Given the description of an element on the screen output the (x, y) to click on. 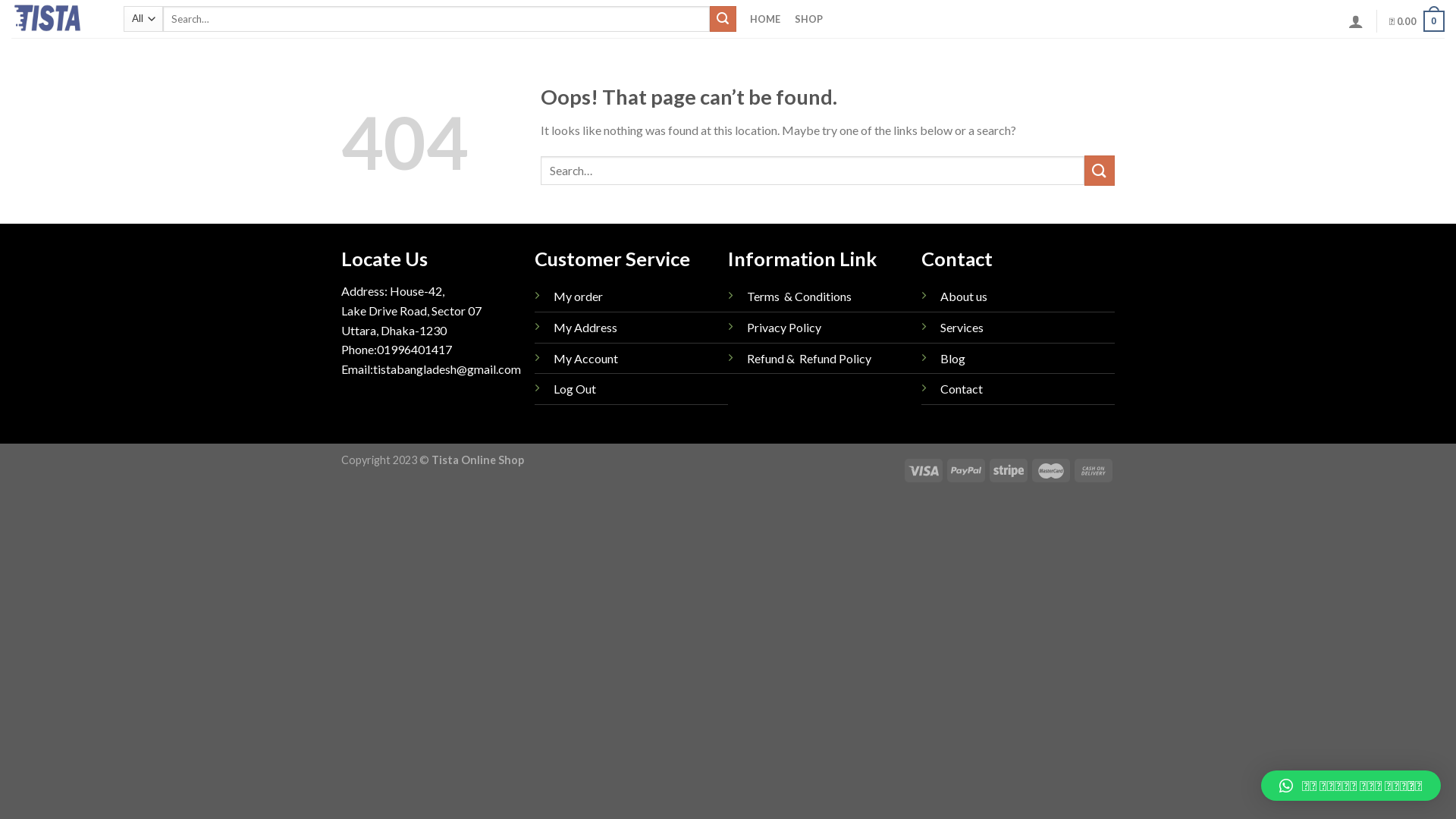
Contact Element type: text (961, 388)
SHOP Element type: text (808, 18)
My Account Element type: text (585, 358)
Log Out Element type: text (574, 388)
Privacy Policy Element type: text (783, 327)
HOME Element type: text (765, 18)
About us Element type: text (963, 295)
Refund &  Refund Policy Element type: text (808, 358)
My order Element type: text (577, 295)
Terms  & Conditions Element type: text (798, 295)
Search Element type: text (722, 18)
Blog Element type: text (952, 358)
Tista Online Shop Element type: hover (55, 18)
My Address Element type: text (585, 327)
Services Element type: text (961, 327)
